Given the description of an element on the screen output the (x, y) to click on. 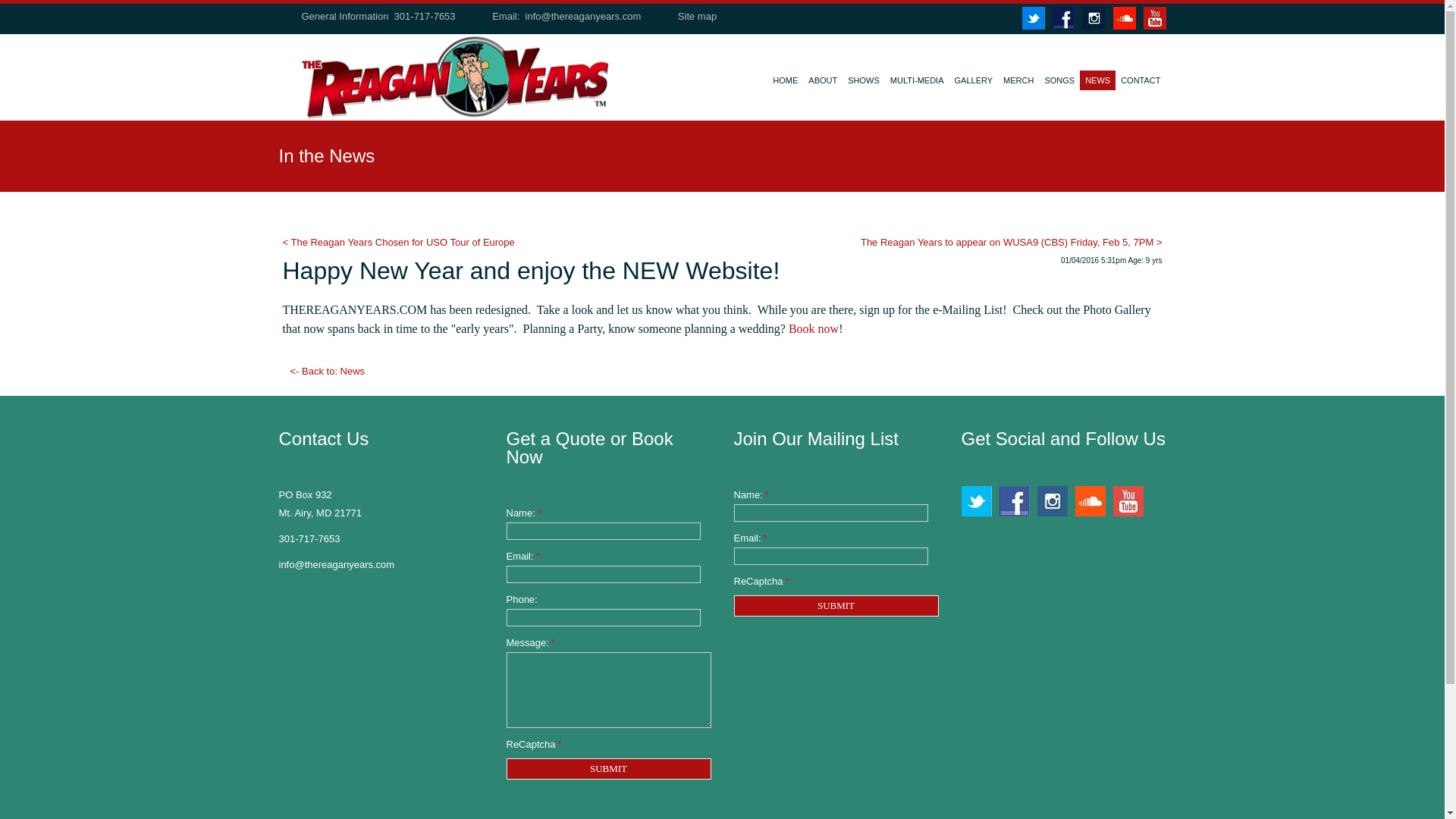
Submit (608, 768)
CONTACT (1140, 87)
HOME (785, 87)
Submit (836, 605)
MULTI-MEDIA (917, 87)
Submit (836, 605)
SONGS (1059, 87)
ABOUT (823, 87)
SHOWS (864, 87)
The Reagan Years Chosen for USO Tour of Europe (397, 242)
